Given the description of an element on the screen output the (x, y) to click on. 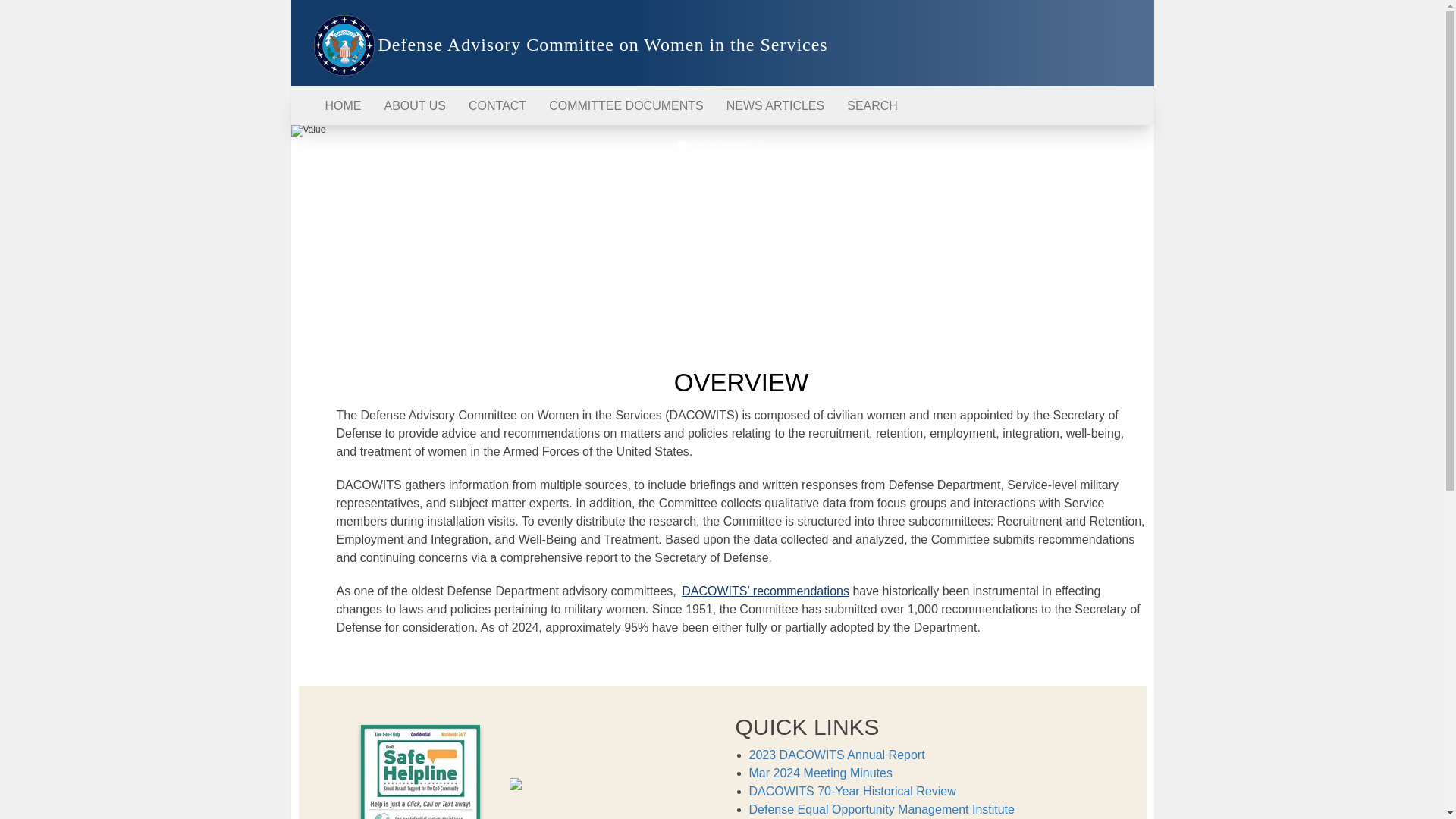
Defense Equal Opportunity Management Institute (881, 809)
Mar 2024 Meeting Minutes (820, 772)
2023 DACOWITS Annual Report (836, 754)
CONTACT (497, 105)
NEWS ARTICLES (774, 105)
COMMITTEE DOCUMENTS (625, 105)
ABOUT US (415, 105)
HOME (343, 105)
DACOWITS 70-Year Historical Review (852, 790)
SEARCH (871, 105)
